Given the description of an element on the screen output the (x, y) to click on. 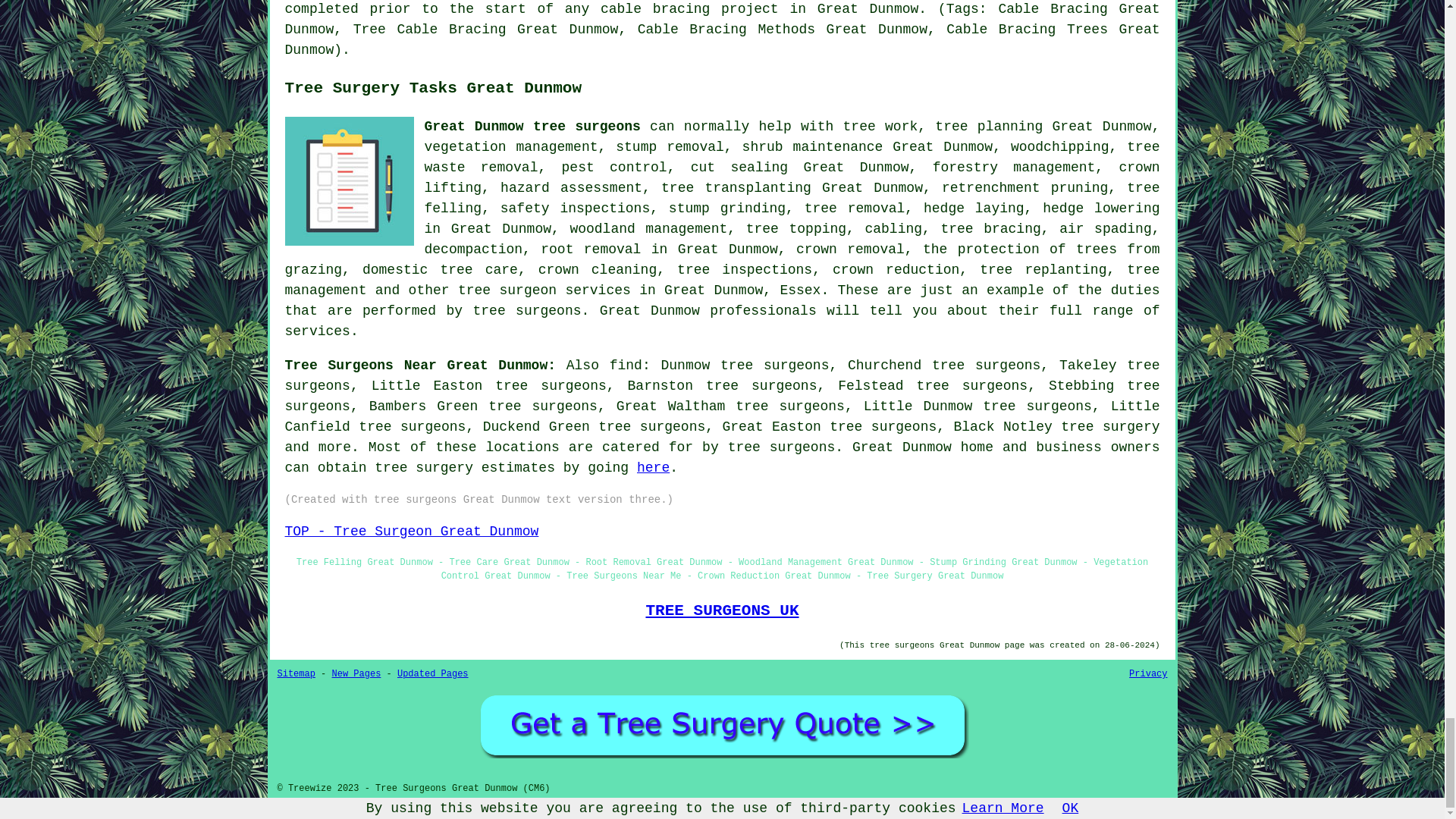
hedge lowering (1100, 208)
tree removal (855, 208)
tree felling (792, 198)
stump grinding (727, 208)
Tree Surgery Tasks Great Dunmow UK (349, 181)
